Given the description of an element on the screen output the (x, y) to click on. 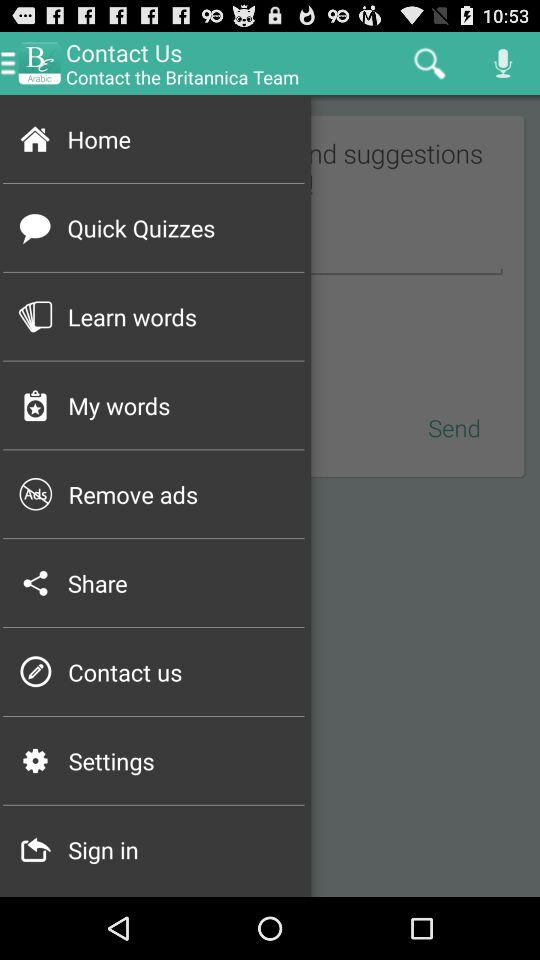
the mike icon at top right corner (503, 63)
select the send button (454, 428)
